Given the description of an element on the screen output the (x, y) to click on. 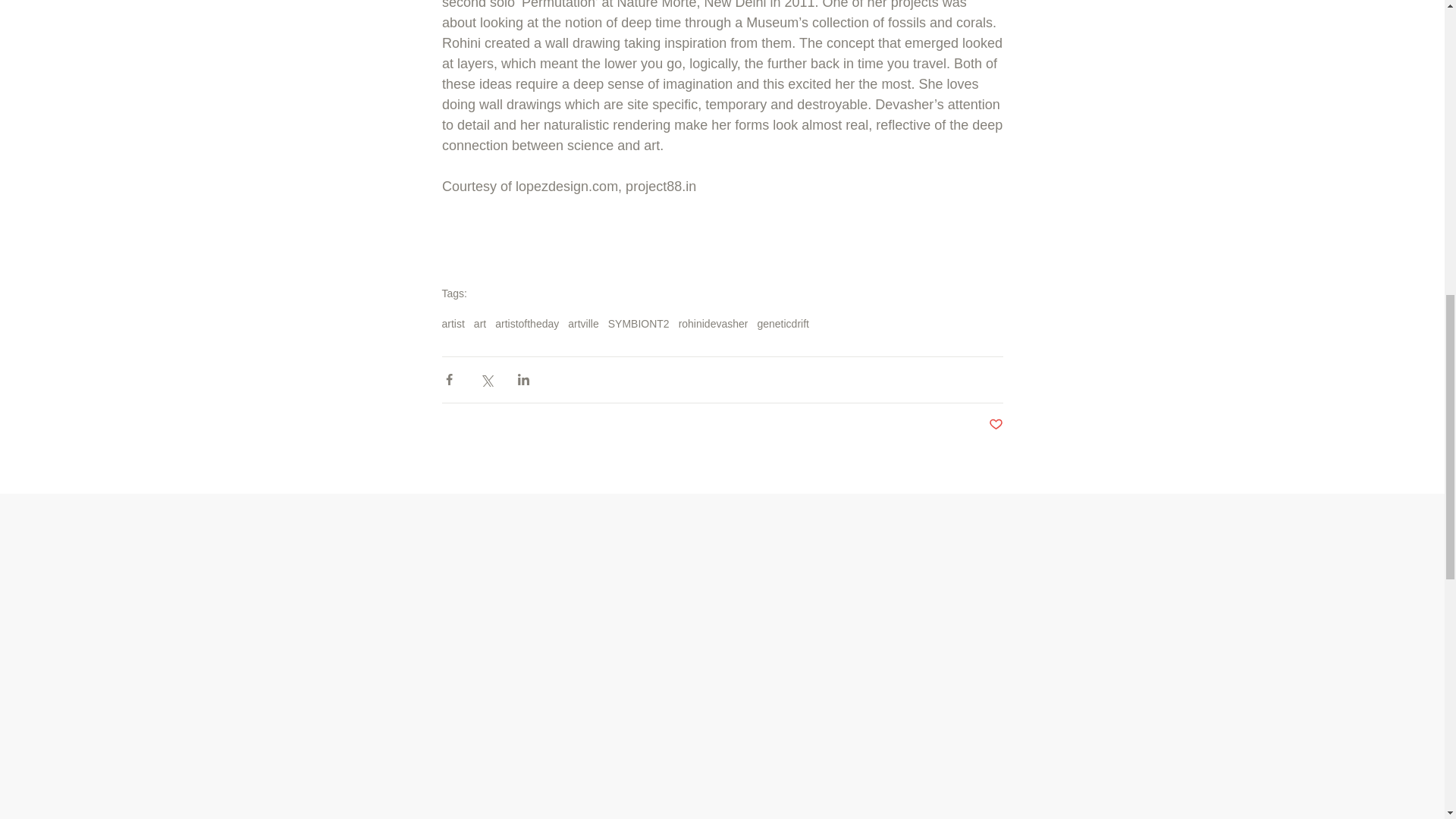
artist (452, 323)
artville (582, 323)
geneticdrift (782, 323)
artistoftheday (527, 323)
art (480, 323)
Post not marked as liked (995, 424)
SYMBIONT2 (638, 323)
rohinidevasher (713, 323)
